Given the description of an element on the screen output the (x, y) to click on. 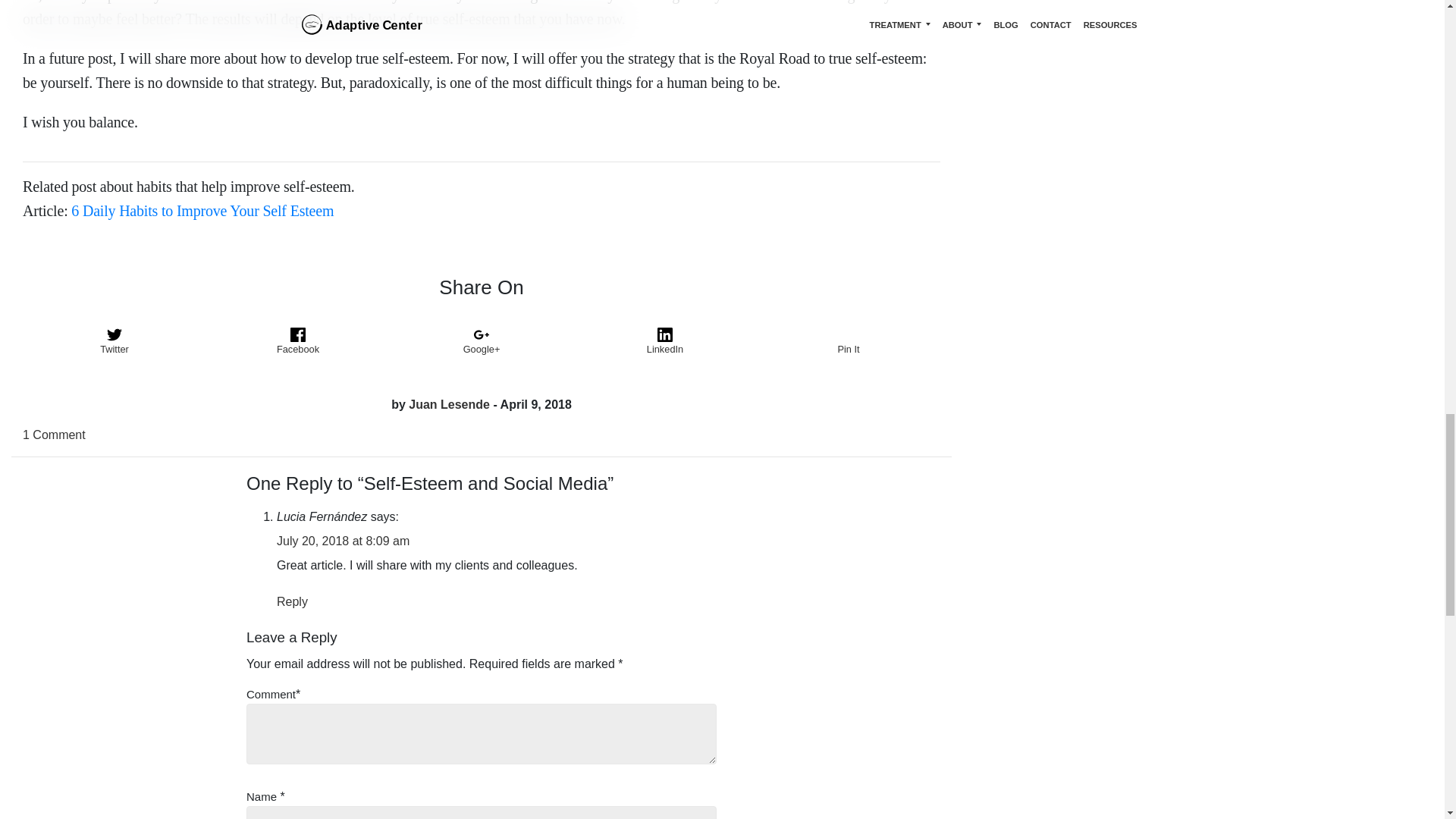
Posts by Juan Lesende (449, 404)
July 20, 2018 at 8:09 am (342, 540)
Reply (291, 601)
1 Comment (54, 434)
Pin It (848, 341)
LinkedIn (665, 341)
Twitter (114, 341)
Facebook (298, 341)
6 Daily Habits to Improve Your Self Esteem (202, 210)
Juan Lesende (449, 404)
